Given the description of an element on the screen output the (x, y) to click on. 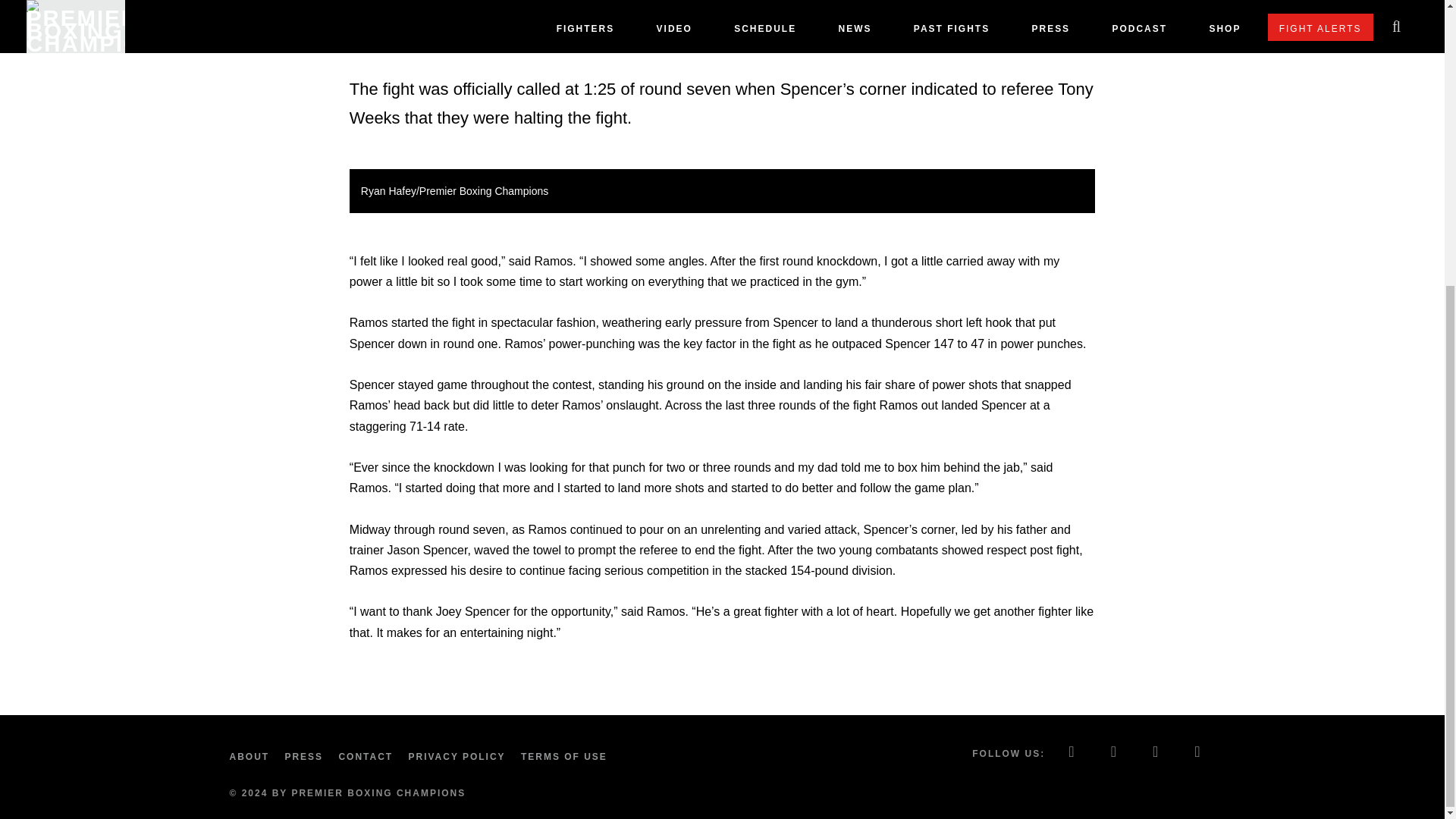
CONTACT (368, 756)
TERMS OF USE (567, 756)
INSTAGRAM (1155, 753)
TWITTER (1114, 753)
YOU TUBE (1197, 753)
ABOUT (252, 756)
FACEBOOK (1071, 753)
PRESS (306, 756)
PRIVACY POLICY (459, 756)
